Given the description of an element on the screen output the (x, y) to click on. 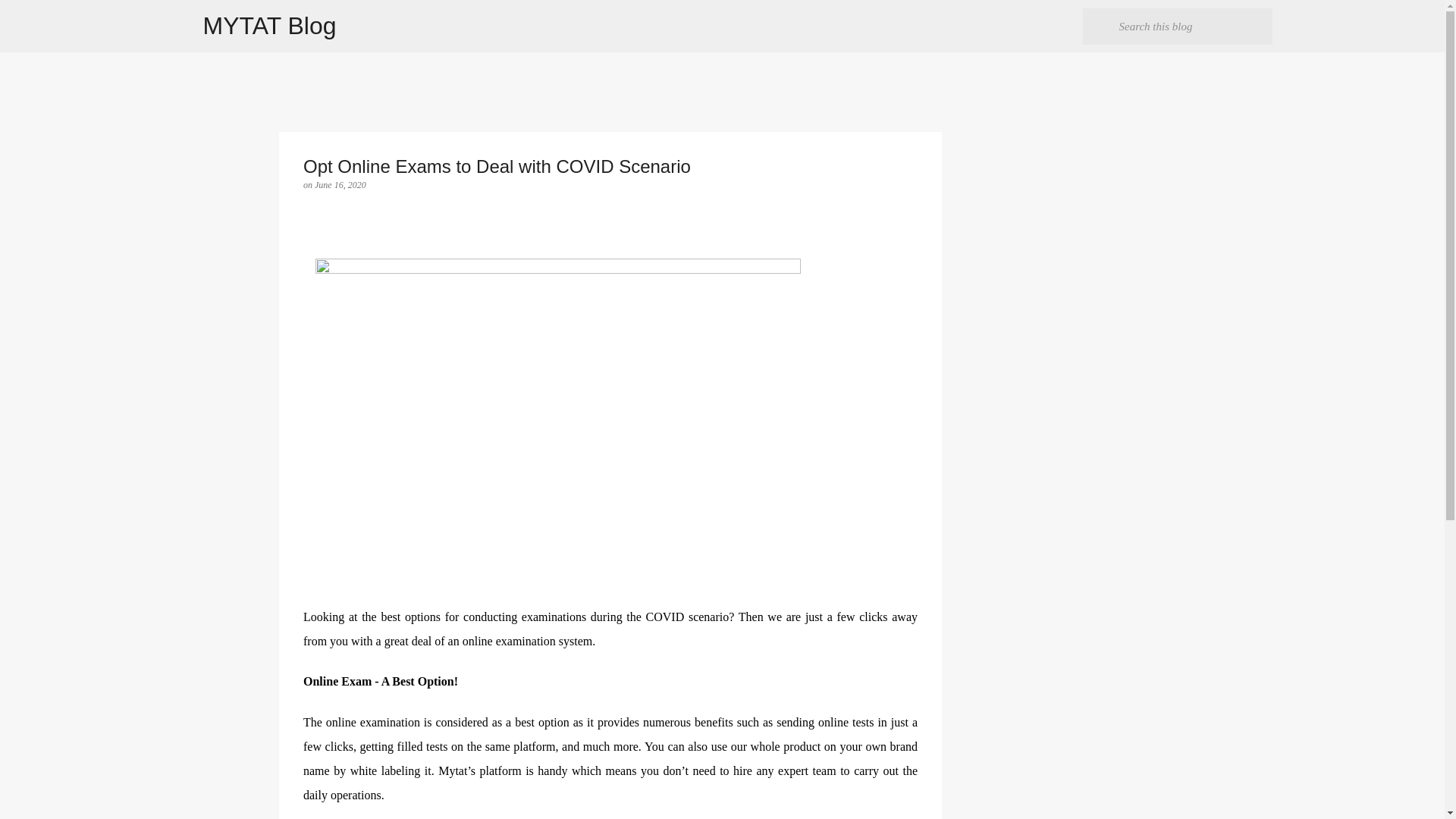
MYTAT Blog (269, 25)
June 16, 2020 (340, 184)
permanent link (340, 184)
